Given the description of an element on the screen output the (x, y) to click on. 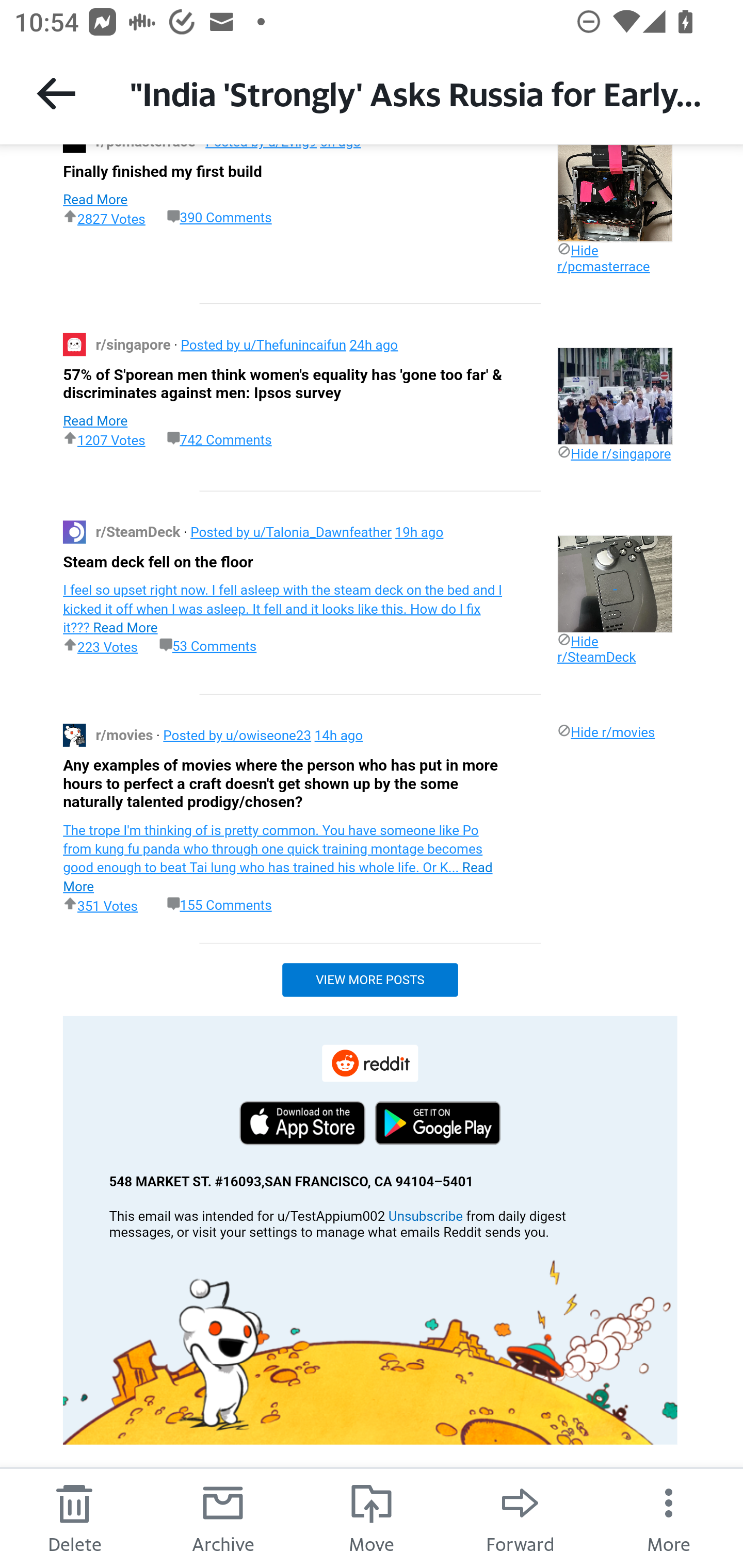
Back (55, 92)
  (614, 192)
Finally finished my first build (162, 170)
Read More (94, 198)
2827 Votes (103, 217)
390 Comments (219, 217)
Hide r/pcmasterrace (603, 257)
cEQaTERKtnD74Eq-yCm_qtdZ6s2VFO80cq3SRcTb94c=343 (74, 343)
r/singapore (134, 343)
Posted by u/Thefunincaifun (262, 343)
24h ago (373, 343)
  (614, 396)
Read More (94, 420)
1207 Votes (103, 438)
742 Comments (219, 439)
Hide r/singapore (613, 453)
svN_Q0sL71-5jbYNA2YOTxOKn3ZrmadGU24odVSnSsE=343 (74, 531)
r/SteamDeck (139, 531)
Posted by u/Talonia_Dawnfeather (291, 531)
19h ago (419, 531)
  (614, 582)
Steam deck fell on the floor (157, 560)
Hide r/SteamDeck (596, 647)
223 Votes (100, 645)
53 Comments (208, 646)
mwdS48_lPL6Pm0musEJj8wlVsDPLCLe64oVL9oX7U3g=343 (74, 734)
Hide r/movies (605, 731)
r/movies (125, 734)
Posted by u/owiseone23 (236, 734)
14h ago (338, 734)
351 Votes (100, 904)
155 Comments (219, 904)
VIEW MORE POSTS (369, 979)
Download on the App Store (302, 1123)
Get it on Google Play (436, 1123)
Unsubscribe (425, 1215)
O8MZrGkFJZir2PsyF4BGTjr7nbedmBGVecH7ALCiSug=343 (369, 1351)
Delete (74, 1517)
Archive (222, 1517)
Move (371, 1517)
Forward (519, 1517)
More (668, 1517)
